Given the description of an element on the screen output the (x, y) to click on. 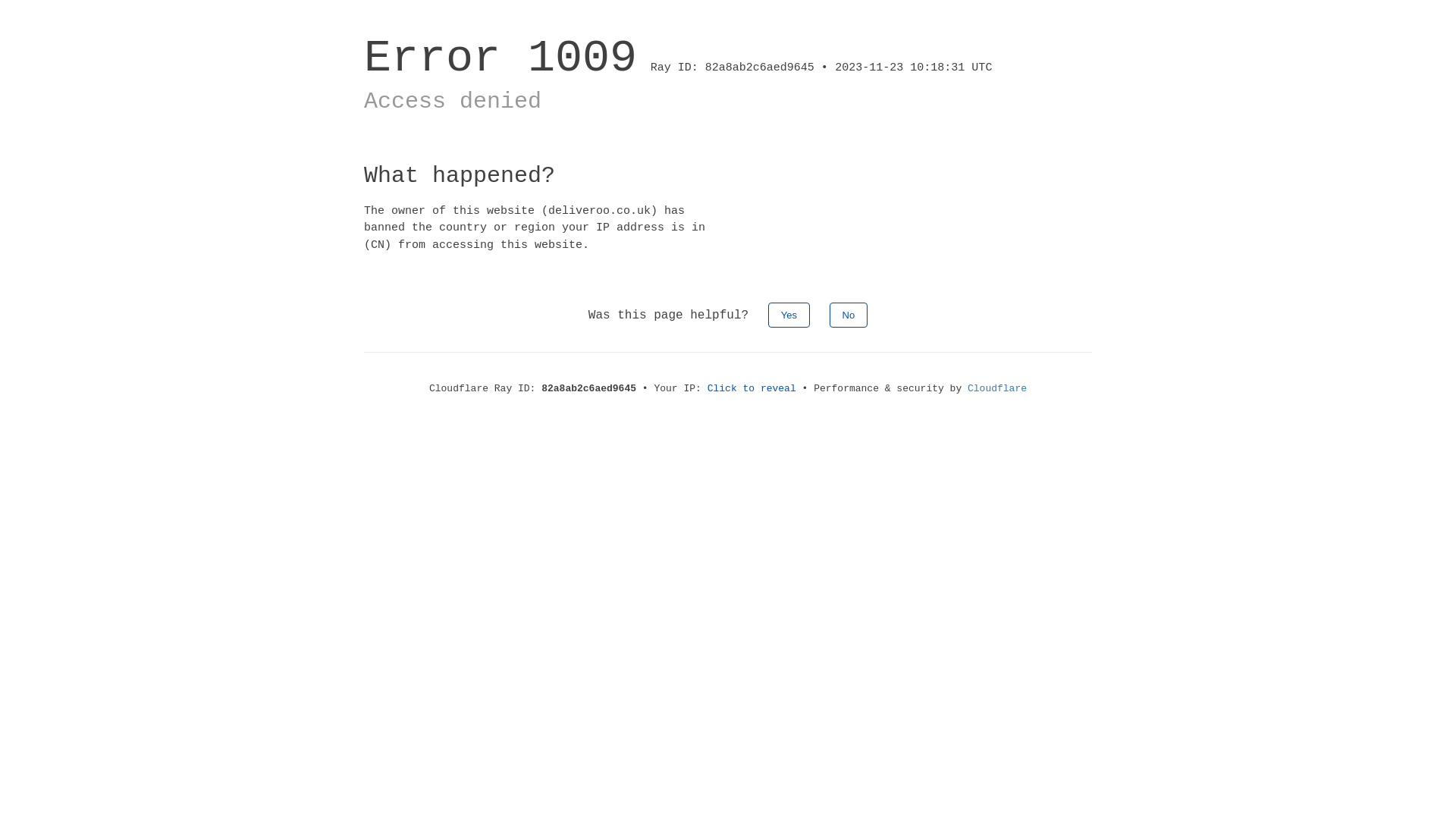
Click to reveal Element type: text (751, 388)
No Element type: text (848, 314)
Yes Element type: text (788, 314)
Cloudflare Element type: text (996, 388)
